Given the description of an element on the screen output the (x, y) to click on. 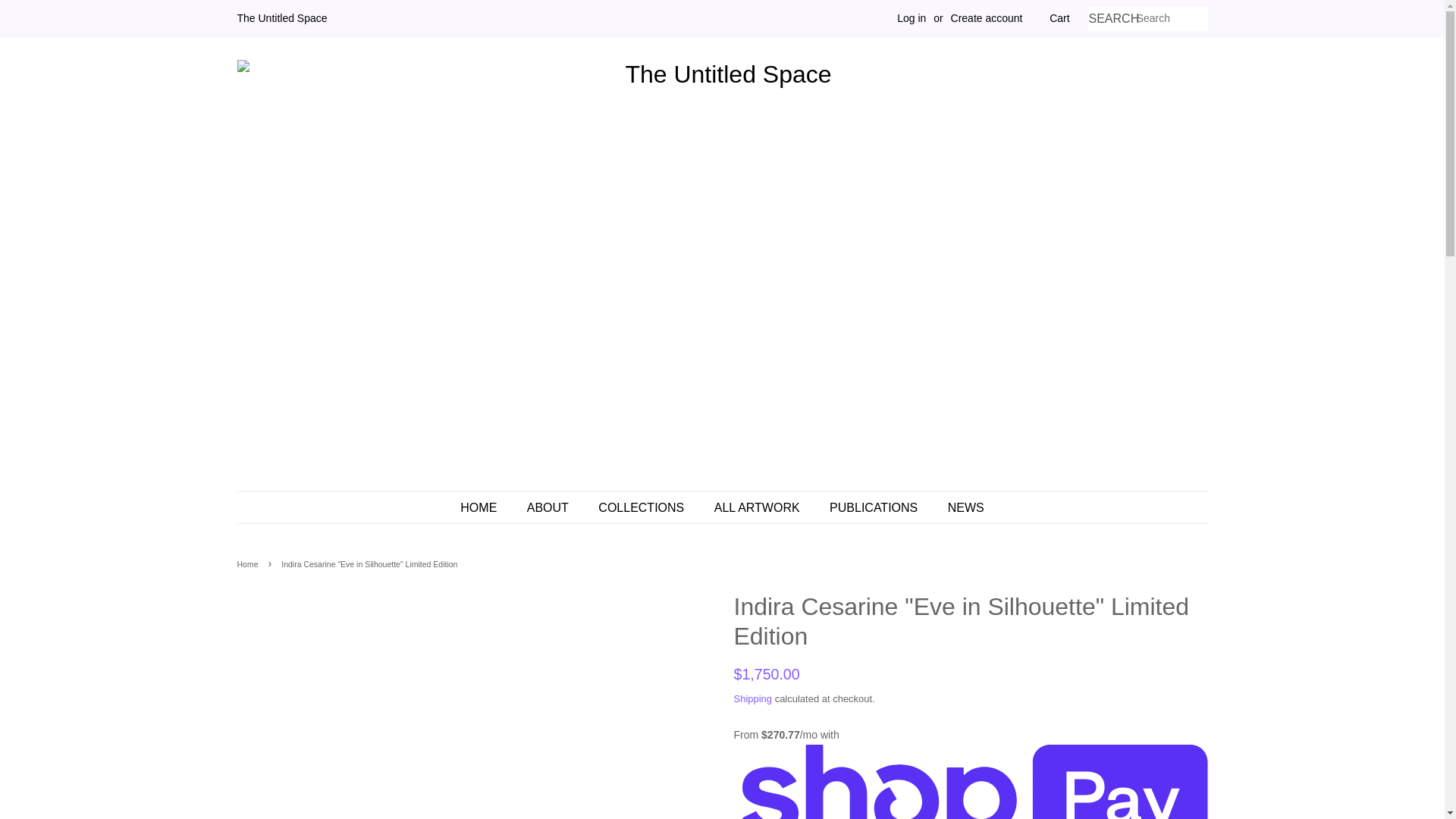
Log in (911, 18)
NEWS (960, 507)
PUBLICATIONS (875, 507)
SEARCH (1111, 18)
Shipping (753, 698)
COLLECTIONS (642, 507)
Home (248, 563)
The Untitled Space (280, 18)
ALL ARTWORK (759, 507)
Back to the frontpage (248, 563)
Create account (986, 18)
Cart (1058, 18)
HOME (486, 507)
ABOUT (549, 507)
